Given the description of an element on the screen output the (x, y) to click on. 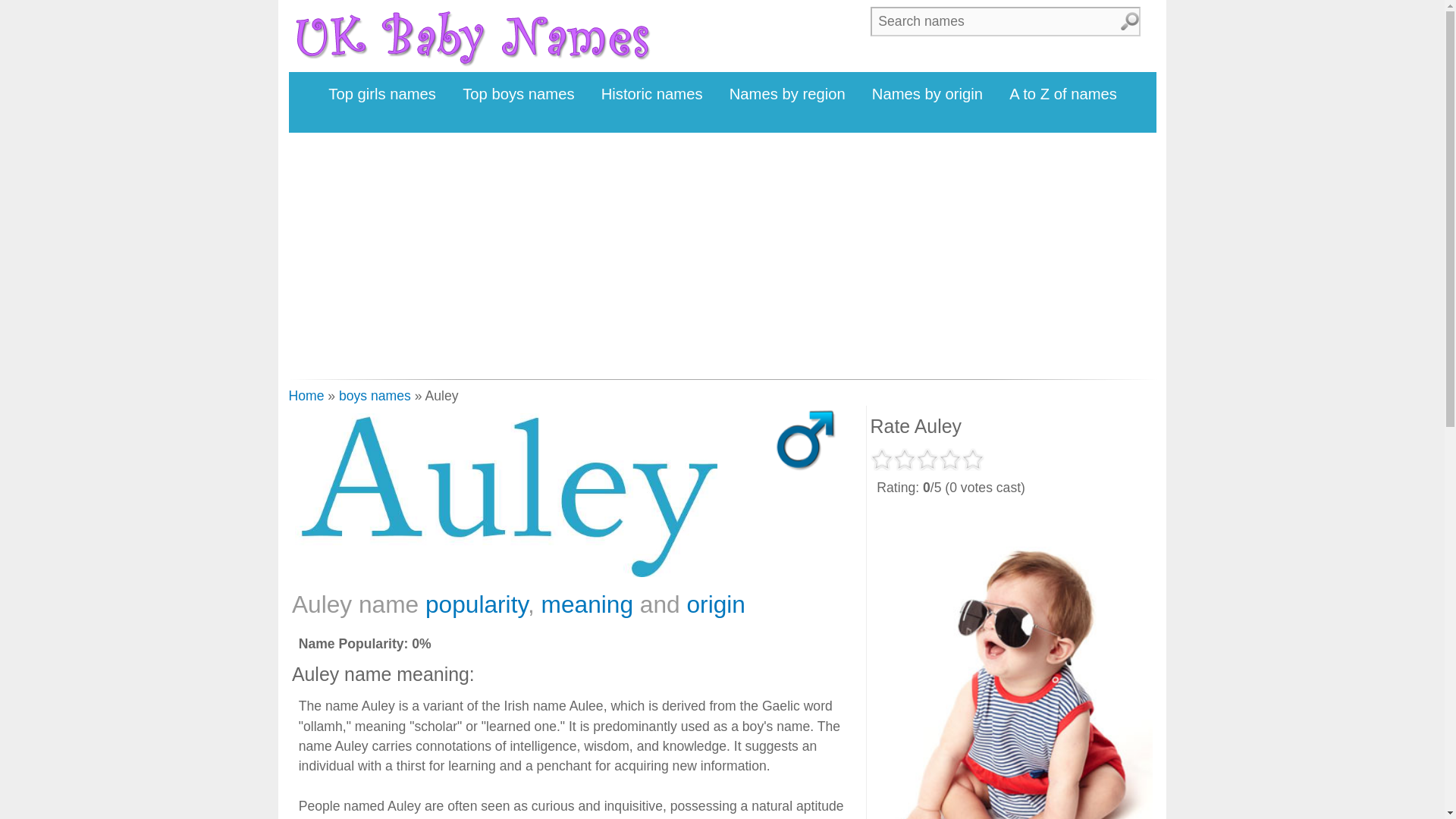
2 (904, 458)
2 out of 5 (904, 458)
5 (972, 458)
Historic names (652, 94)
boys names (374, 395)
3 (927, 458)
A to Z of names (1063, 94)
Top boys names (518, 94)
5 out of 5 (972, 458)
Names by region (787, 94)
1 (881, 458)
Names by origin (927, 94)
4 (949, 458)
Top girls names (382, 94)
Home (305, 395)
